Given the description of an element on the screen output the (x, y) to click on. 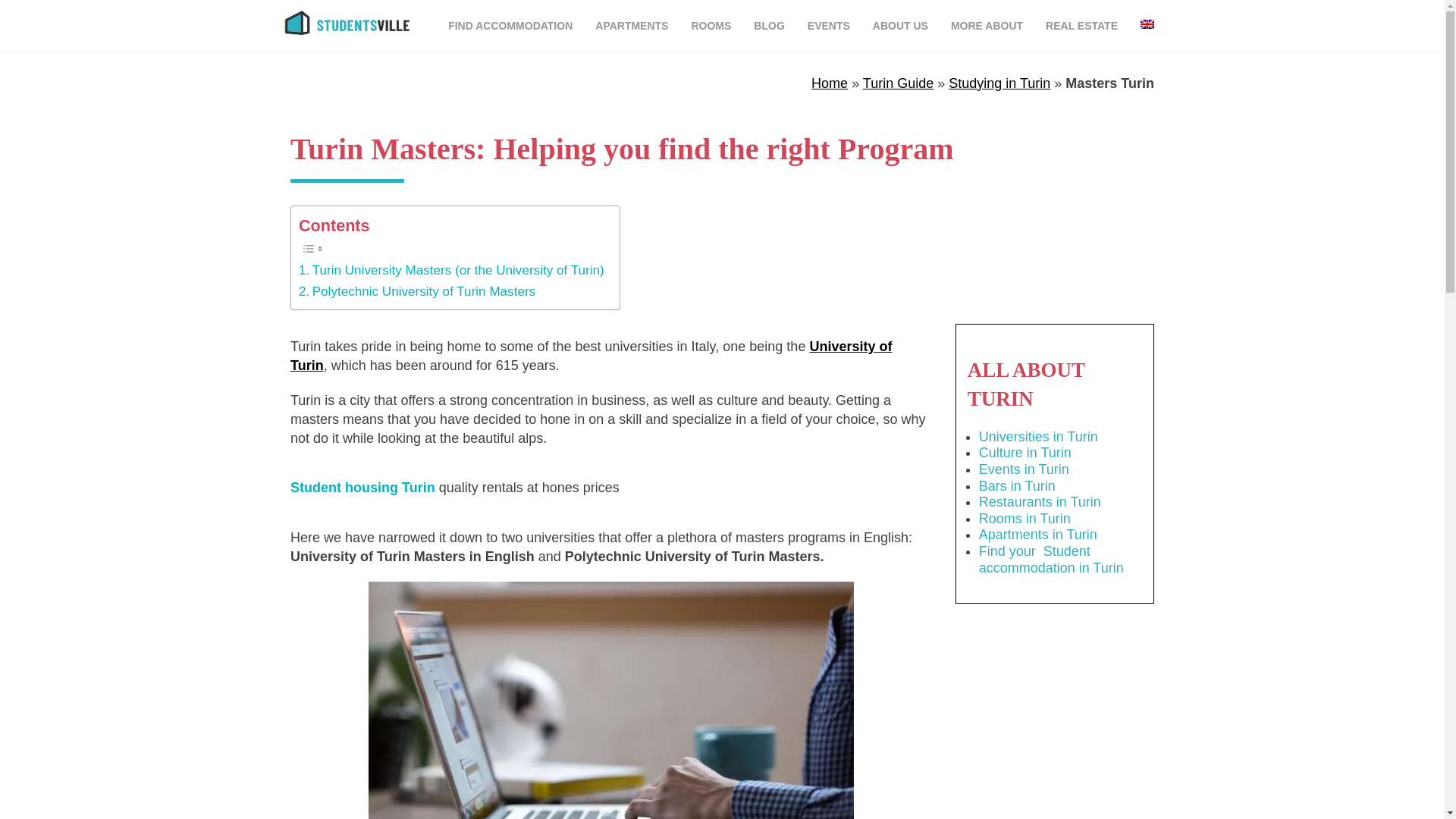
ROOMS (710, 25)
BLOG (768, 25)
FIND ACCOMMODATION (509, 25)
Turin Masters (610, 700)
APARTMENTS (631, 25)
Polytechnic University of Turin Masters (416, 291)
